Given the description of an element on the screen output the (x, y) to click on. 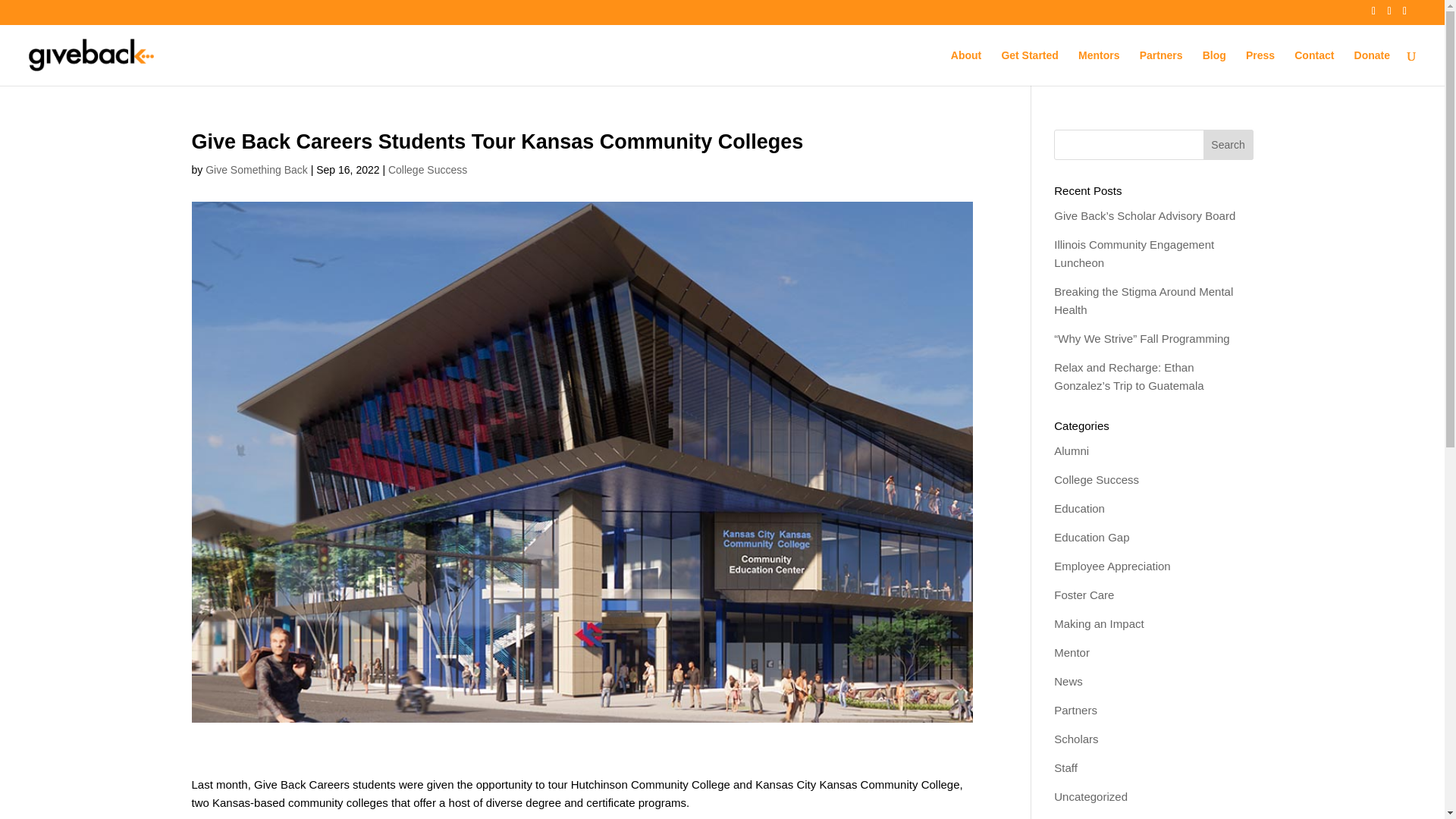
News (1068, 680)
Alumni (1071, 450)
Give Something Back (256, 169)
Donate (1372, 67)
Mentor (1071, 652)
Staff (1065, 767)
Contact (1313, 67)
Illinois Community Engagement Luncheon (1134, 253)
Education (1079, 508)
College Success (1096, 479)
